Given the description of an element on the screen output the (x, y) to click on. 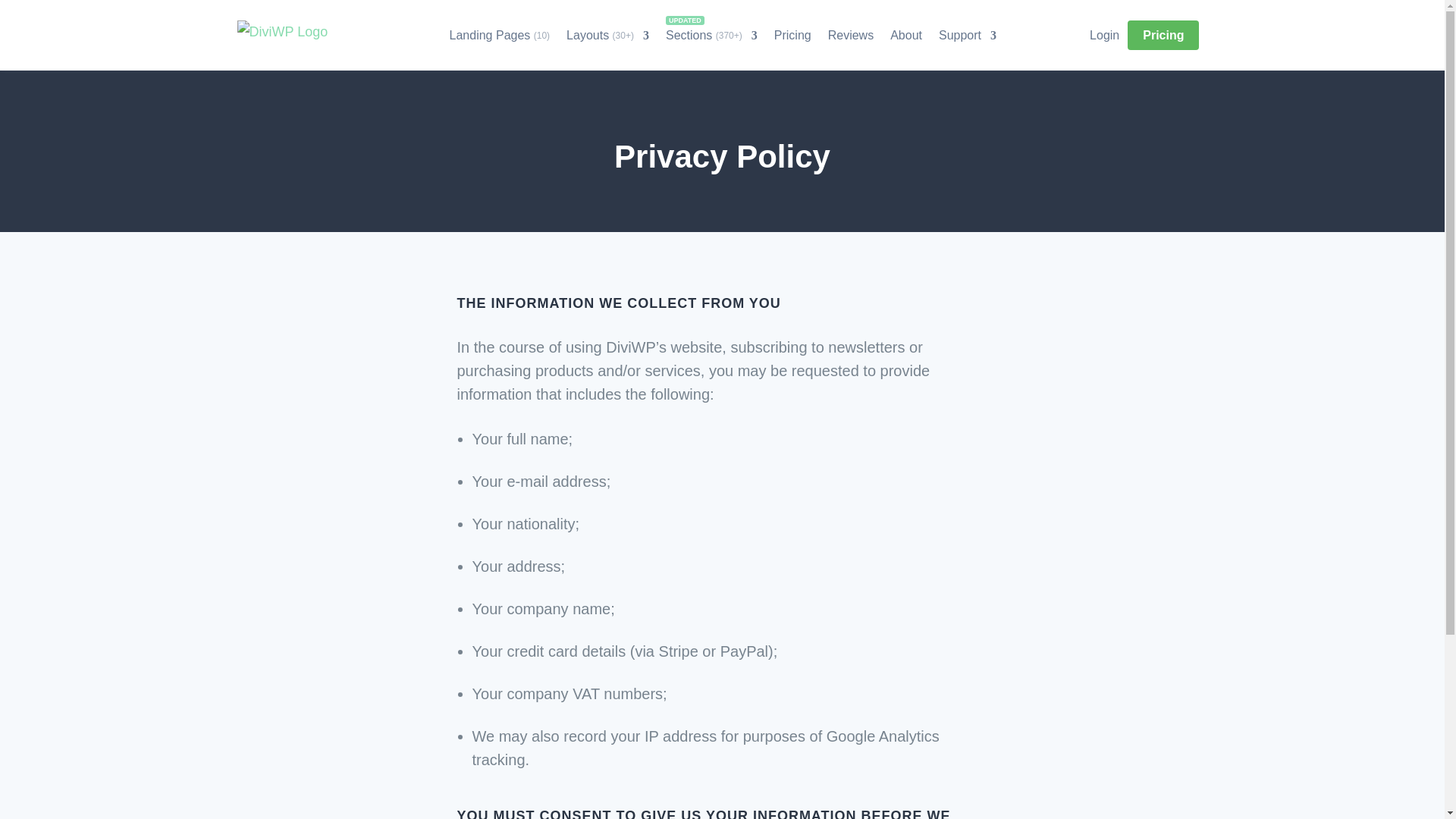
Reviews (850, 34)
Support (967, 34)
Pricing (1162, 34)
Pricing (792, 34)
About (905, 34)
Login (1104, 34)
